Given the description of an element on the screen output the (x, y) to click on. 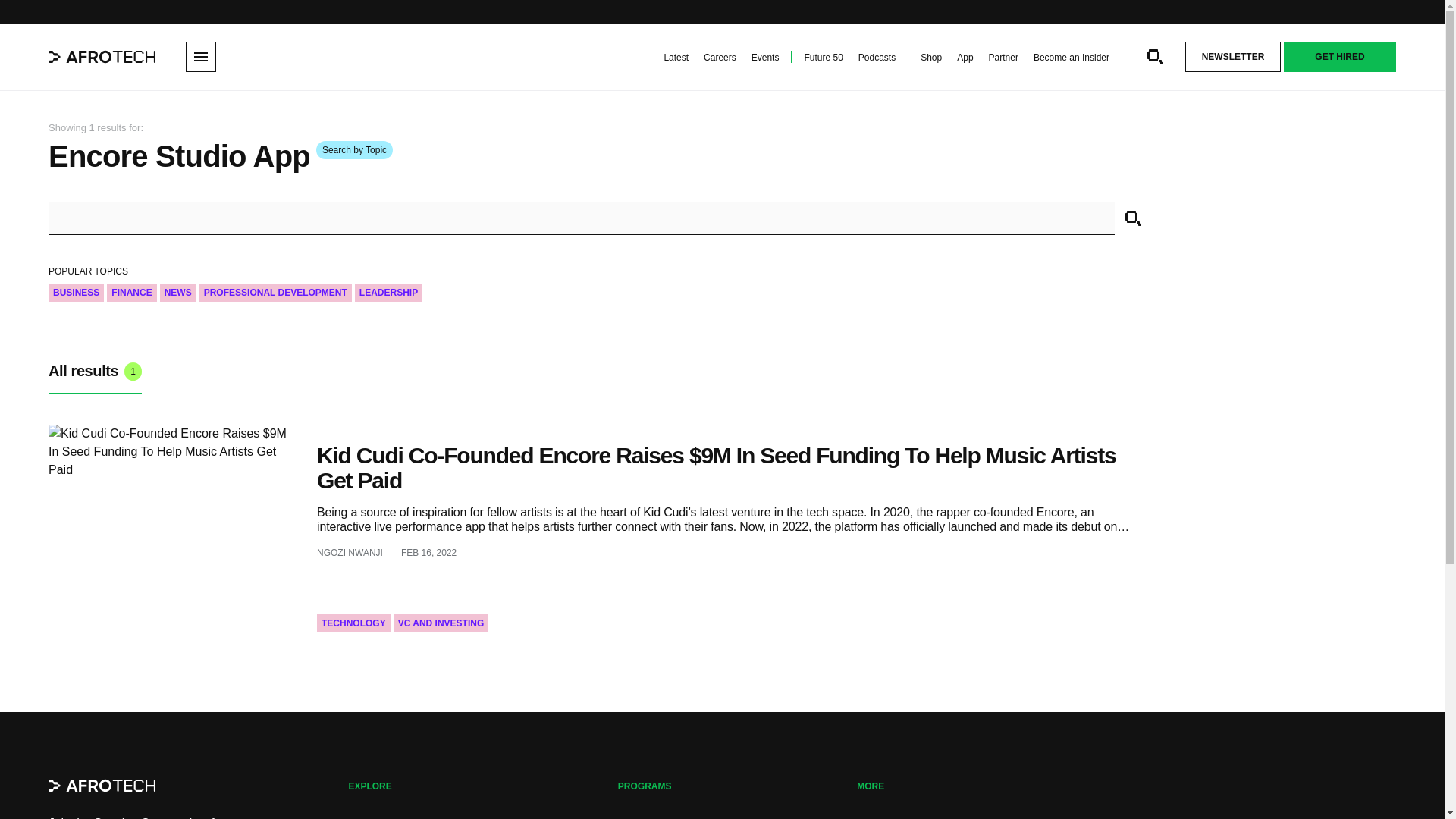
Future 50 (823, 57)
Shop (931, 57)
VC AND INVESTING (441, 623)
FINANCE (130, 292)
PROFESSIONAL DEVELOPMENT (275, 292)
Become an Insider (1071, 57)
Latest (675, 57)
NEWSLETTER (1233, 56)
GET HIRED (1340, 56)
NGOZI NWANJI (349, 552)
Events (764, 57)
Careers (719, 57)
Podcasts (877, 57)
BUSINESS (75, 292)
Partner (1002, 57)
